Given the description of an element on the screen output the (x, y) to click on. 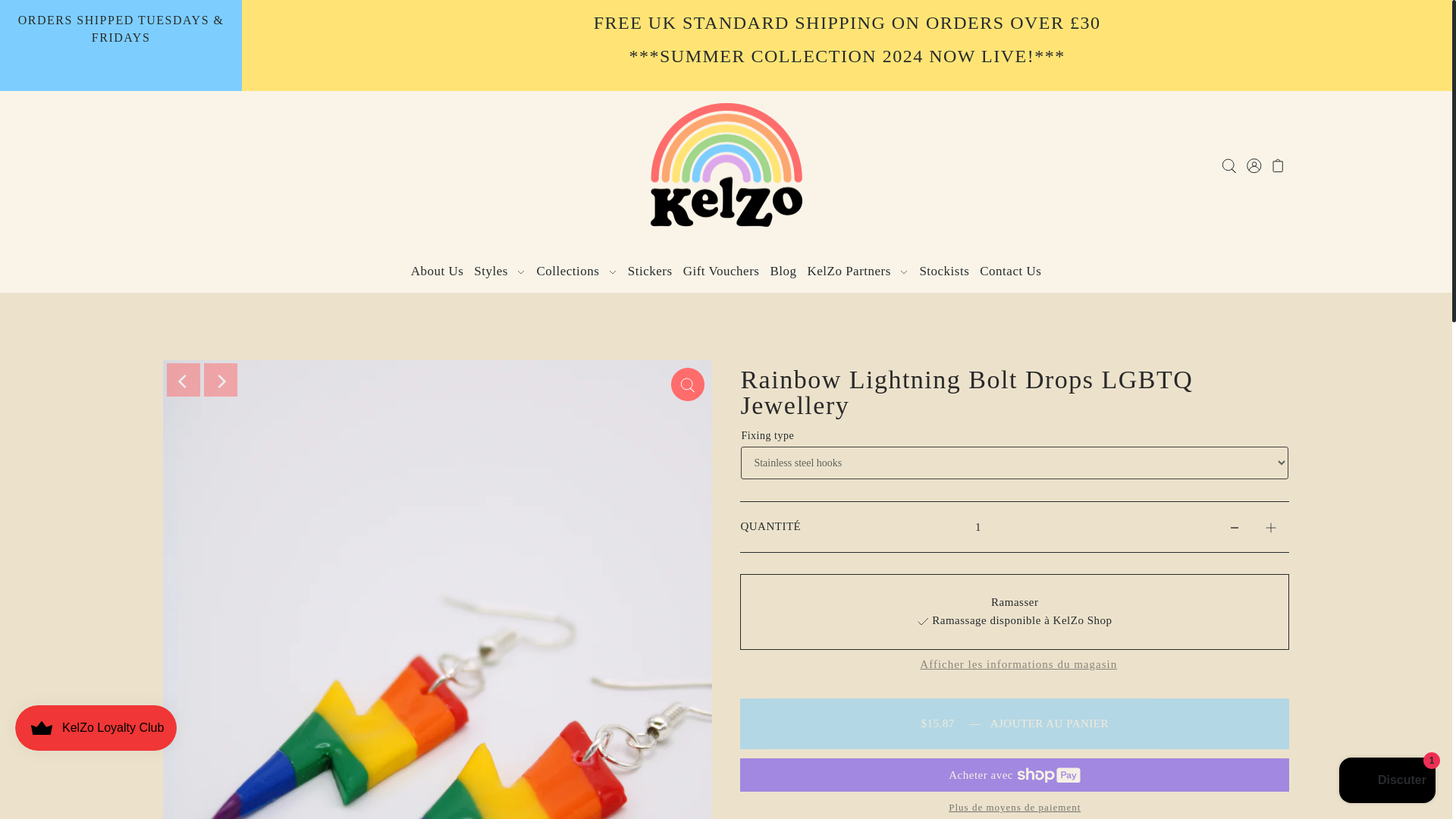
Smile.io Rewards Program Launcher (95, 728)
Styles (499, 270)
About Us (437, 270)
click to zoom-in (687, 384)
Collections (577, 270)
1 (977, 526)
Chat de la boutique en ligne Shopify (1387, 781)
